Given the description of an element on the screen output the (x, y) to click on. 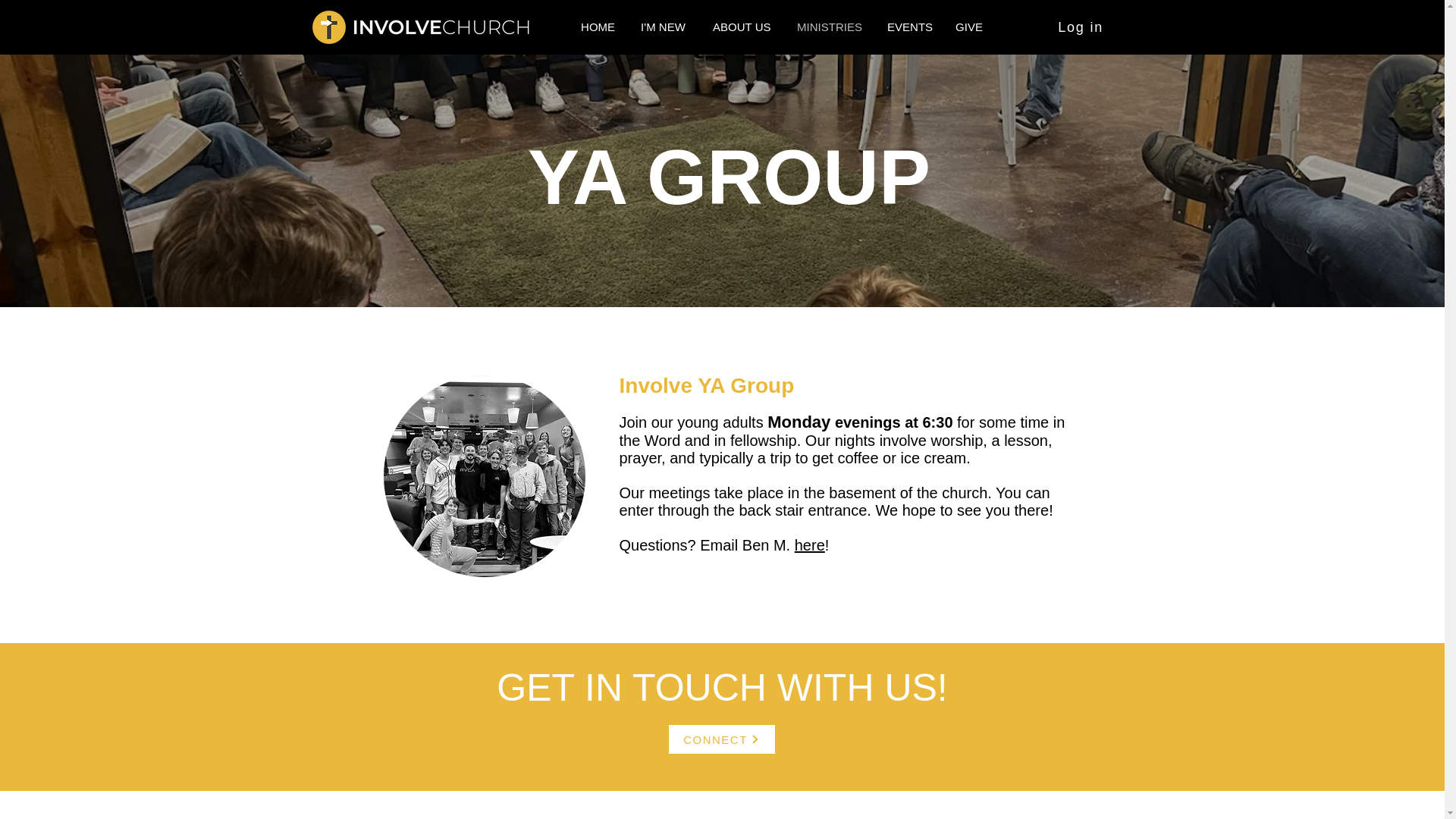
HOME (598, 27)
CONNECT (720, 738)
MINISTRIES (831, 27)
Log in (1081, 27)
ABOUT US (743, 27)
here (809, 545)
EVENTS (909, 27)
GIVE (968, 27)
I'M NEW (664, 27)
